Given the description of an element on the screen output the (x, y) to click on. 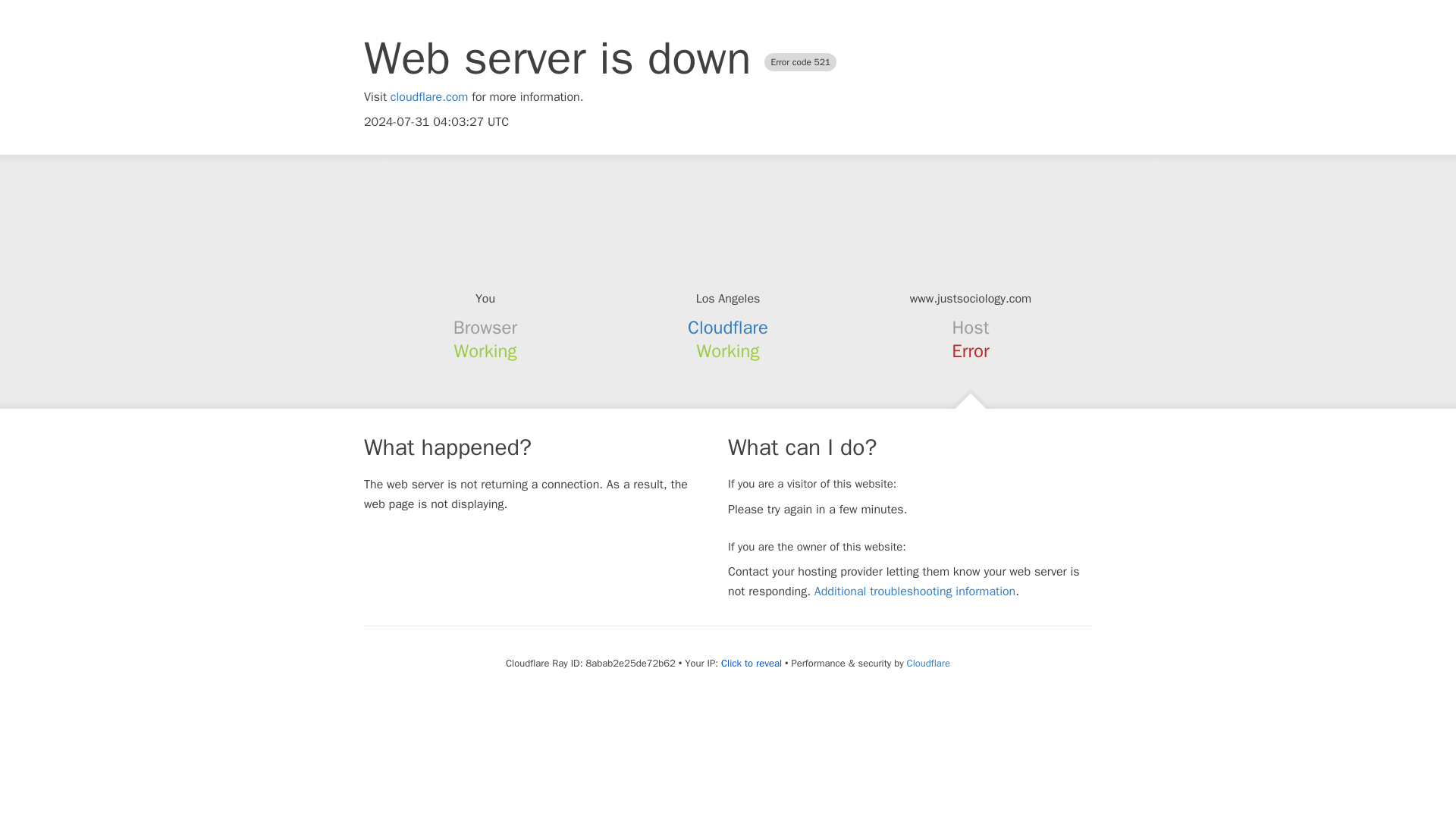
cloudflare.com (429, 96)
Click to reveal (750, 663)
Cloudflare (928, 662)
Cloudflare (727, 327)
Additional troubleshooting information (913, 590)
